Given the description of an element on the screen output the (x, y) to click on. 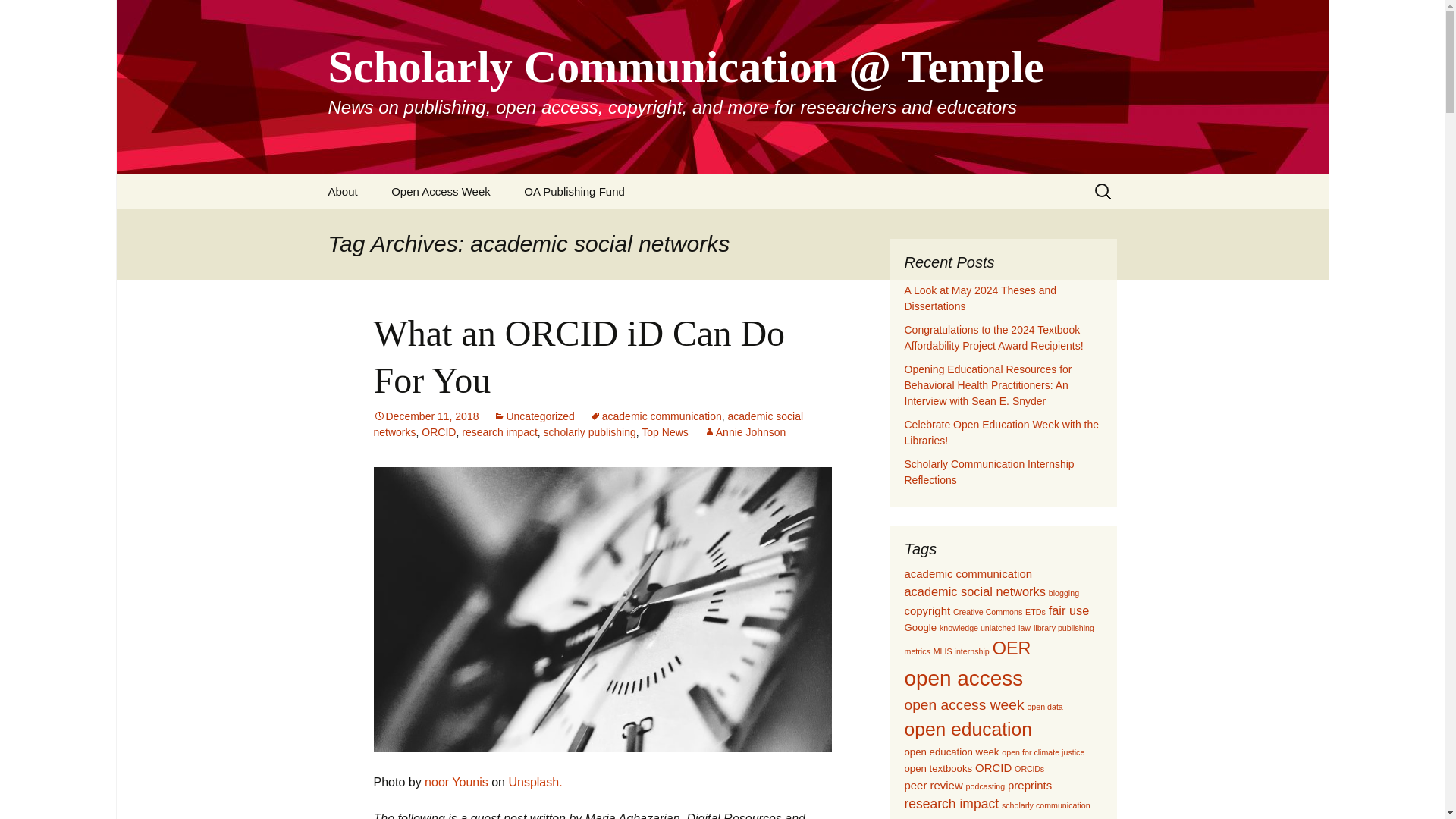
research impact (499, 431)
What an ORCID iD Can Do For You (578, 356)
Annie Johnson (744, 431)
Open Access Week (440, 191)
Search (18, 15)
December 11, 2018 (425, 416)
scholarly publishing (589, 431)
Top News (664, 431)
Permalink to What an ORCID iD Can Do For You (425, 416)
